Given the description of an element on the screen output the (x, y) to click on. 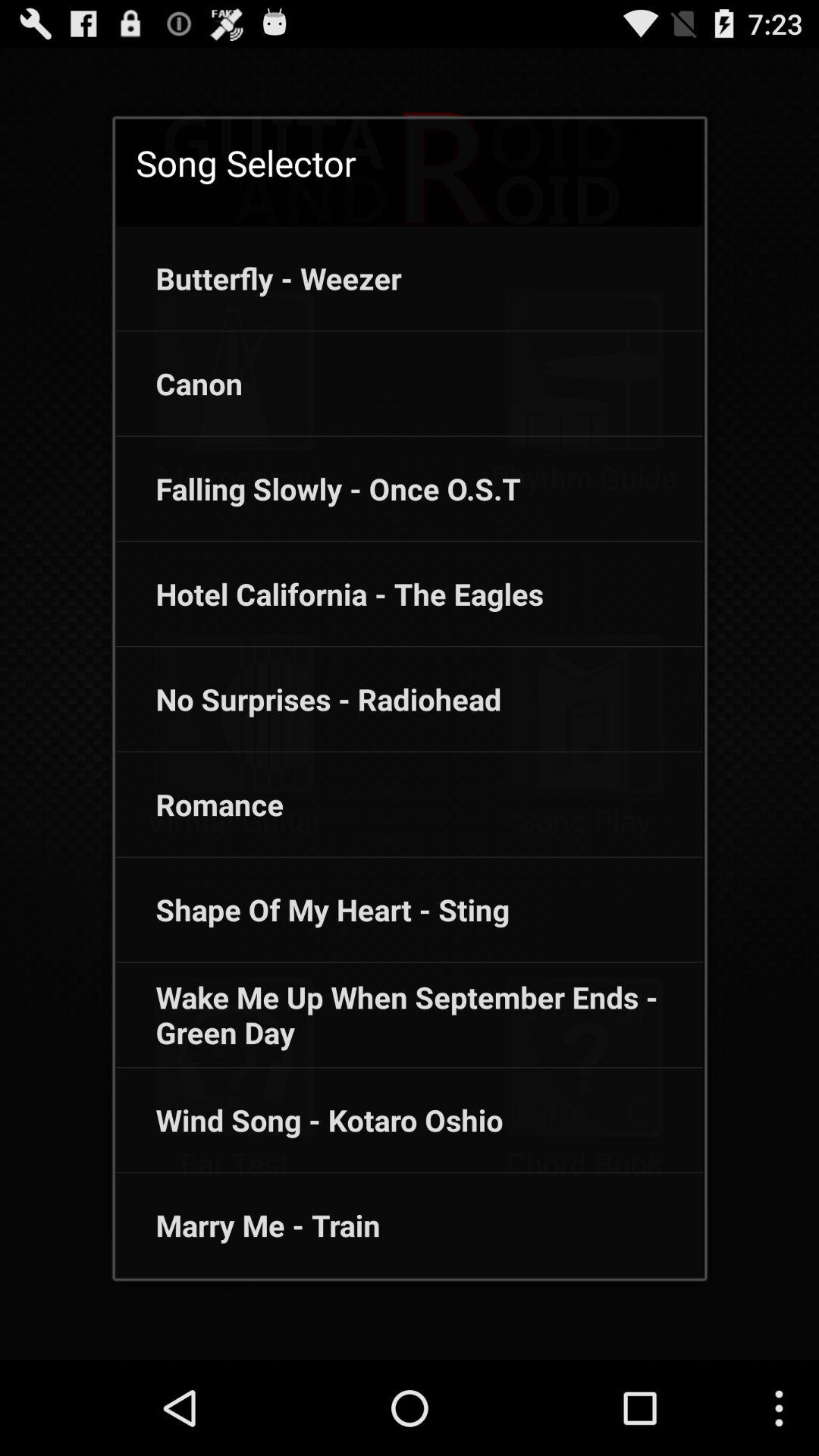
press the item below the canon item (318, 488)
